Given the description of an element on the screen output the (x, y) to click on. 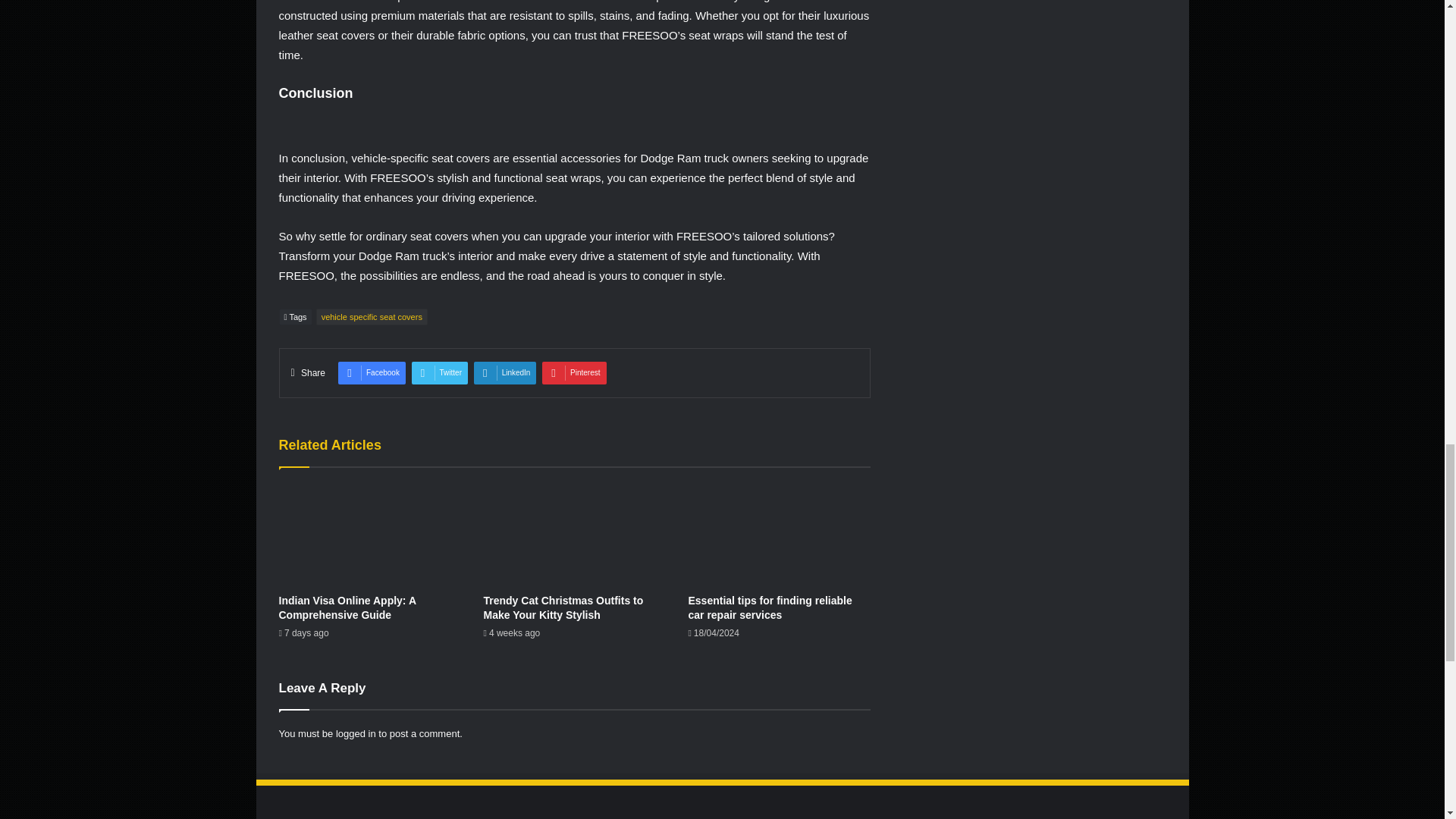
vehicle specific seat covers (371, 316)
